Given the description of an element on the screen output the (x, y) to click on. 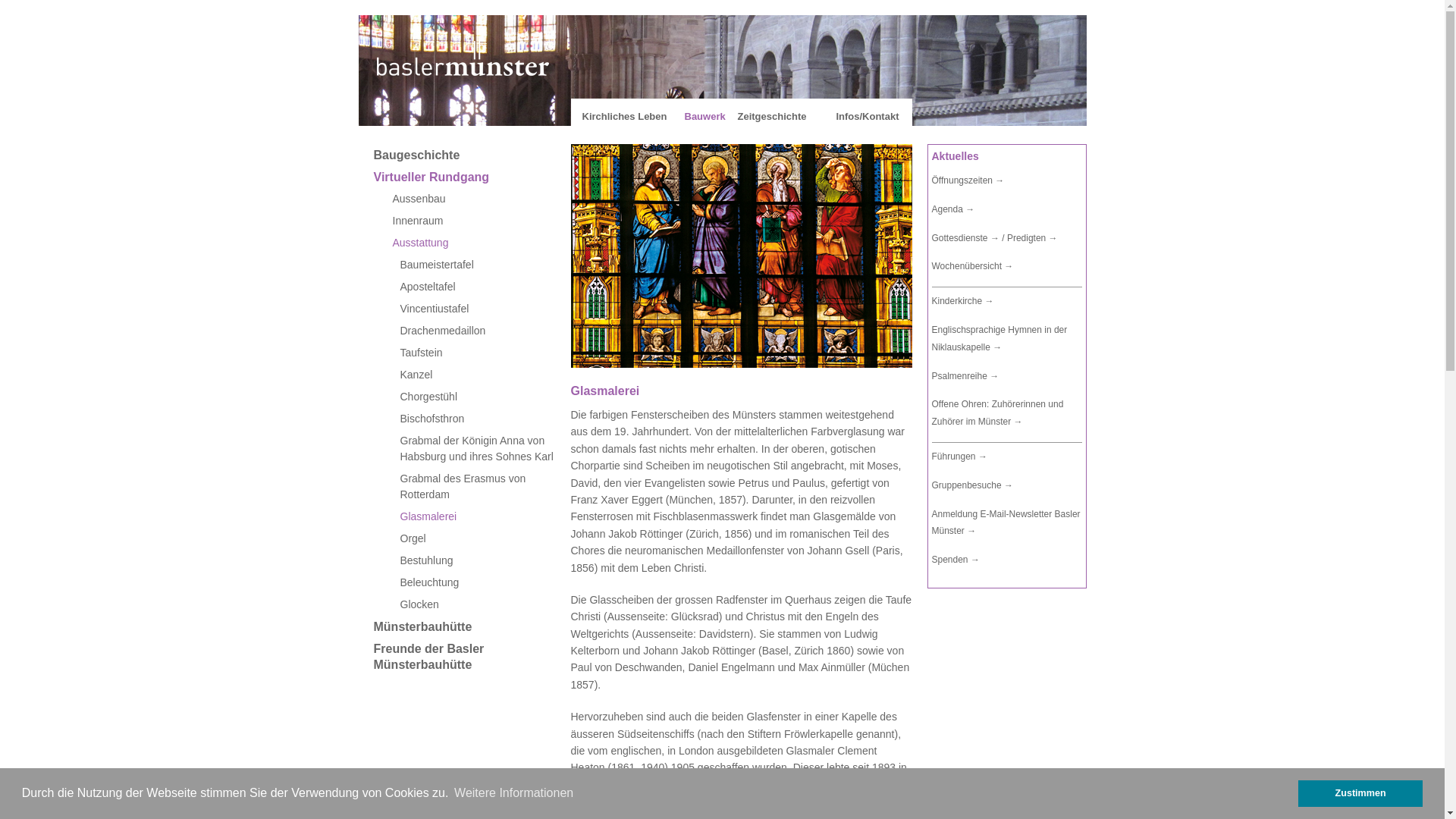
Bestuhlung Element type: text (475, 560)
Drachenmedaillon Element type: text (475, 331)
Aposteltafel Element type: text (475, 287)
Vincentiustafel Element type: text (475, 309)
Innenraum Element type: text (475, 221)
Beleuchtung Element type: text (475, 582)
Glocken Element type: text (475, 604)
Baumeistertafel Element type: text (475, 265)
Bischofsthron Element type: text (475, 418)
Taufstein Element type: text (475, 353)
Zustimmen Element type: text (1360, 793)
Weitere Informationen Element type: text (513, 792)
Kirchliches Leben Element type: text (624, 116)
Aussenbau Element type: text (475, 199)
Ausstattung Element type: text (475, 243)
Glasmalerei Element type: text (475, 516)
Orgel Element type: text (475, 538)
Kanzel Element type: text (475, 374)
Grabmal des Erasmus von Rotterdam Element type: text (475, 486)
Virtueller Rundgang Element type: text (475, 177)
Bauwerk Element type: text (704, 116)
Zeitgeschichte Element type: text (771, 116)
Infos/Kontakt Element type: text (866, 116)
Baugeschichte Element type: text (475, 155)
